Given the description of an element on the screen output the (x, y) to click on. 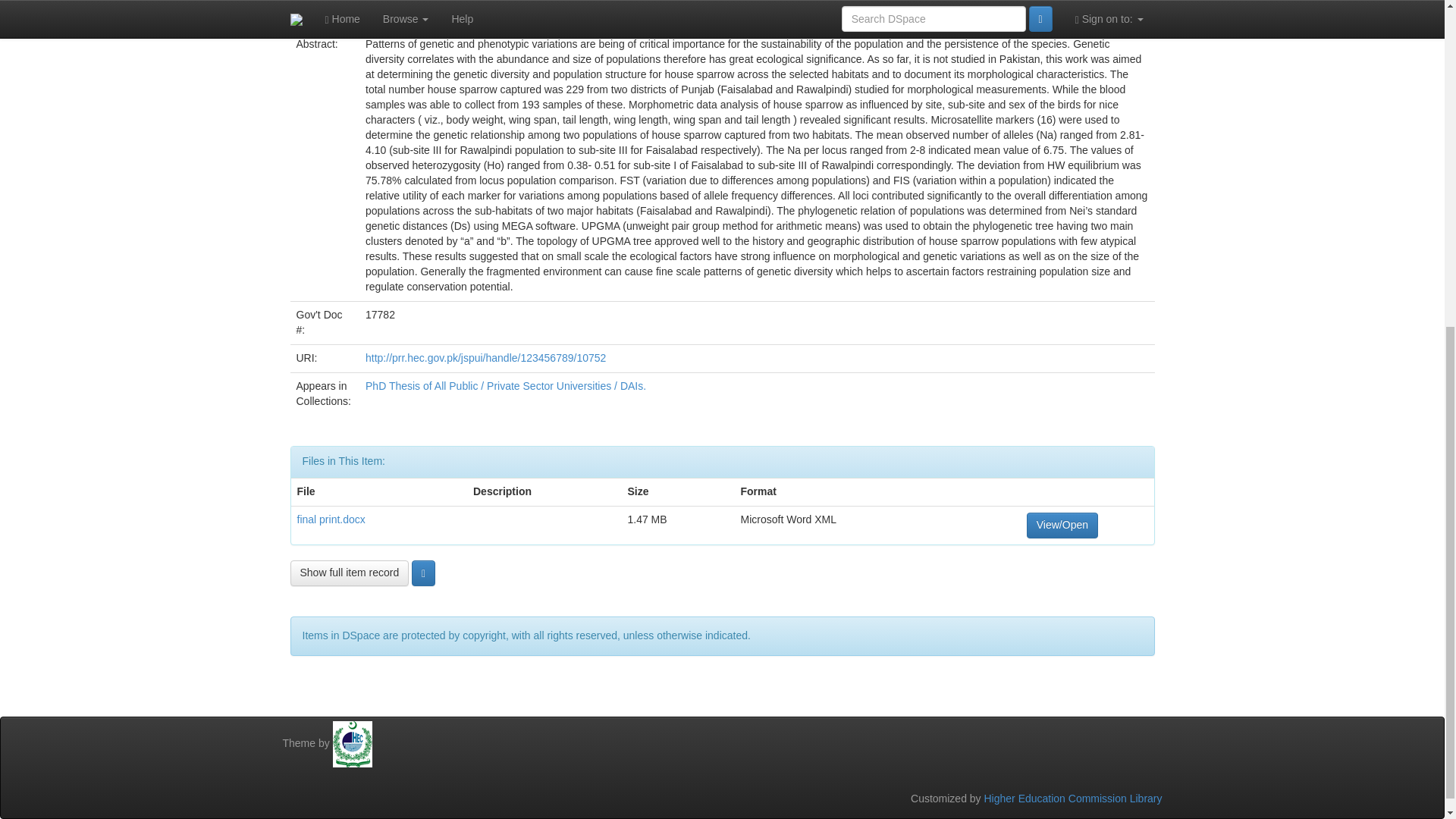
Higher Education Commission Library (1072, 798)
Show full item record (349, 573)
final print.docx (331, 519)
